Given the description of an element on the screen output the (x, y) to click on. 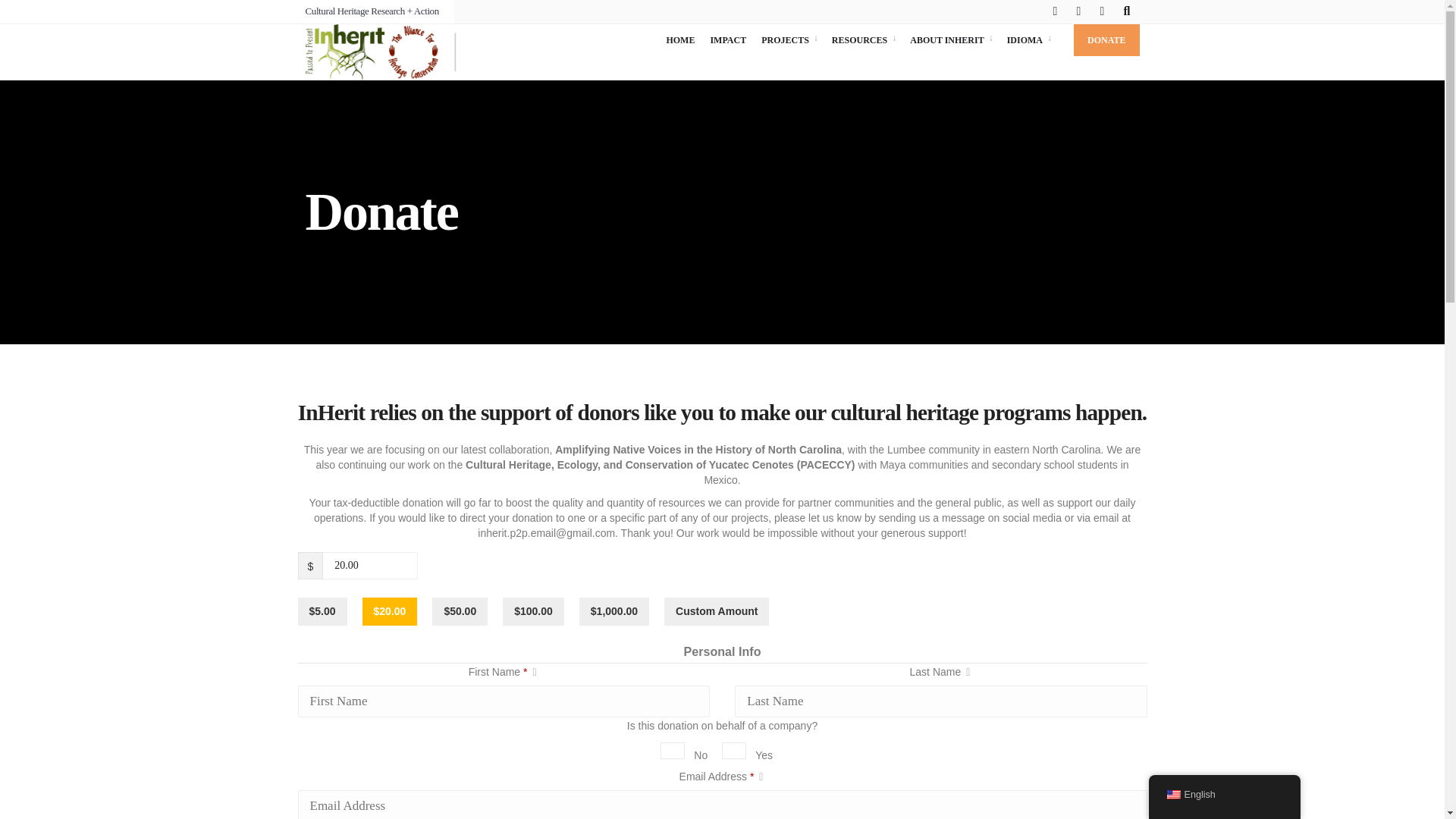
Twitter (1081, 11)
HOME (679, 40)
no (672, 750)
English (1172, 794)
yes (733, 750)
20.00 (370, 565)
Facebook (1057, 11)
PROJECTS (789, 40)
Instagram (1104, 11)
RESOURCES (863, 40)
ABOUT INHERIT (950, 40)
IMPACT (727, 40)
